Given the description of an element on the screen output the (x, y) to click on. 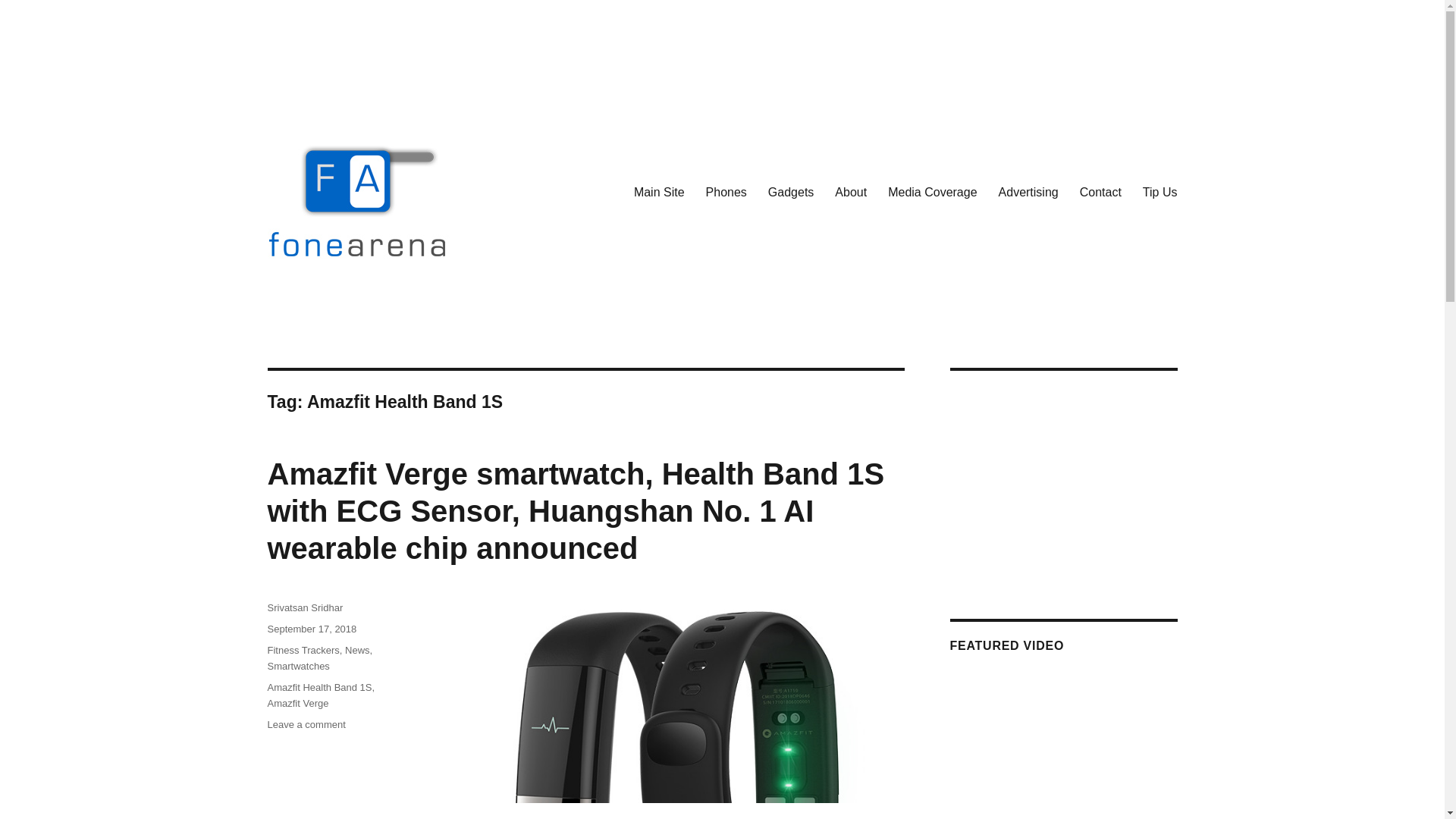
September 17, 2018 (311, 628)
Fitness Trackers (302, 650)
Gadgets (790, 192)
Amazfit Health Band 1S (318, 686)
Smartwatches (297, 665)
Contact (1100, 192)
YouTube video player (1062, 725)
Main Site (659, 192)
News (357, 650)
Srivatsan Sridhar (304, 607)
About (850, 192)
Tip Us (1160, 192)
Amazfit Verge (297, 703)
Fone Arena (324, 306)
